Given the description of an element on the screen output the (x, y) to click on. 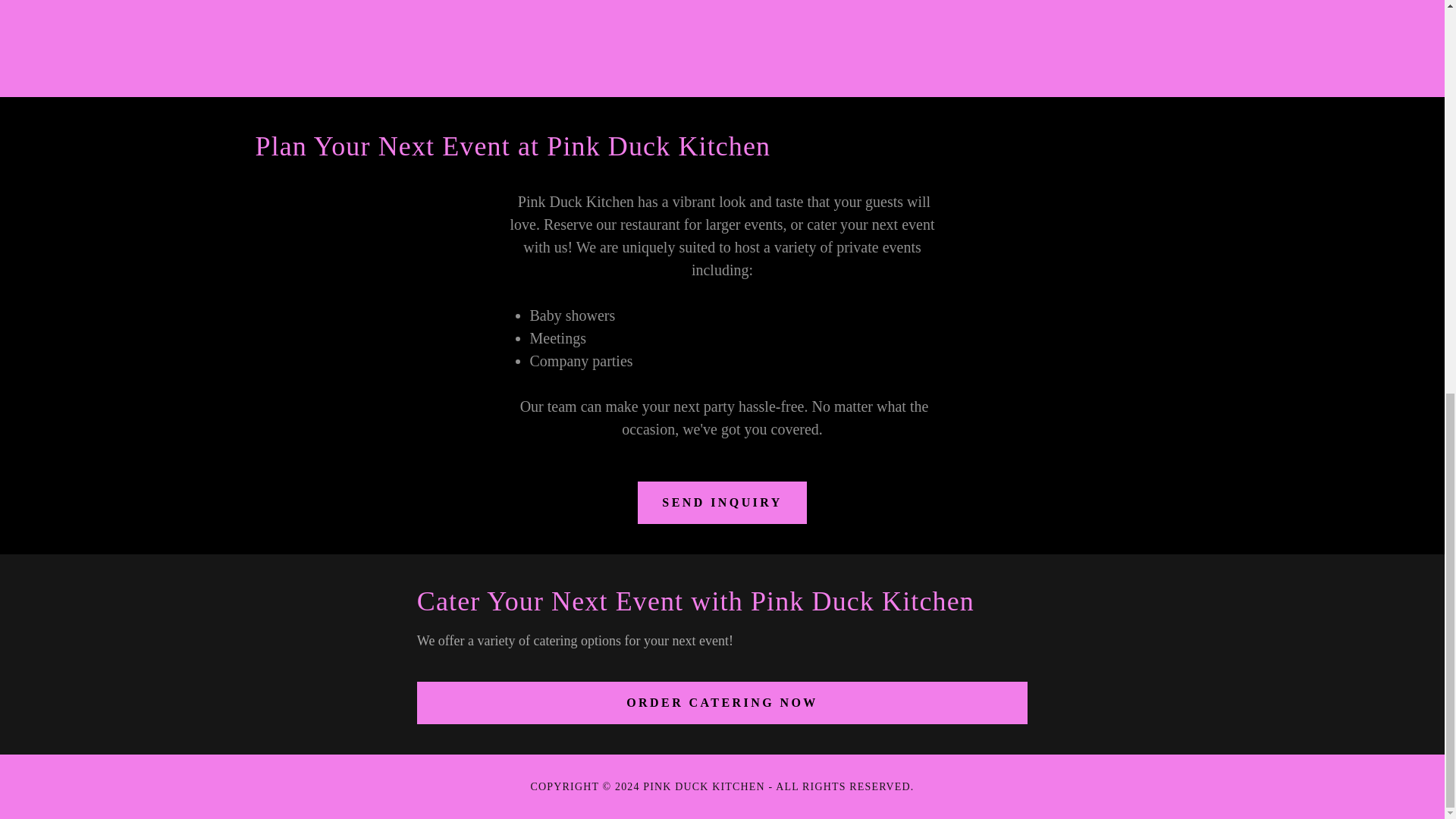
ACCEPT (1274, 388)
SEND INQUIRY (721, 502)
ORDER CATERING NOW (721, 702)
